Given the description of an element on the screen output the (x, y) to click on. 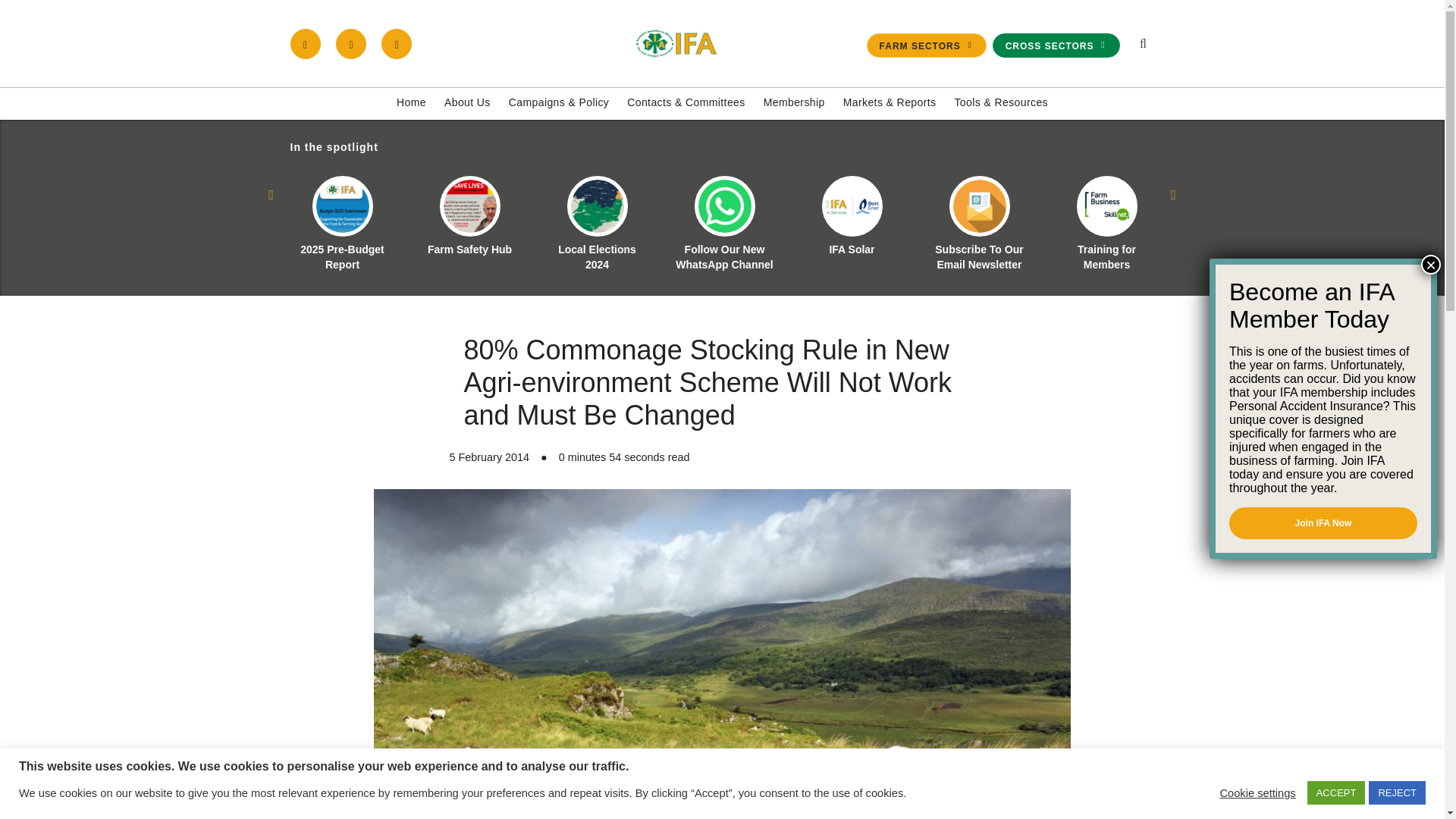
About Us (467, 103)
Follow IFA on Twitter (351, 43)
Home (411, 103)
Follow IFA on Facebook (304, 43)
Search (1070, 210)
CROSS SECTORS (1055, 45)
FARM SECTORS (926, 45)
Get the official IFA App (396, 43)
